Given the description of an element on the screen output the (x, y) to click on. 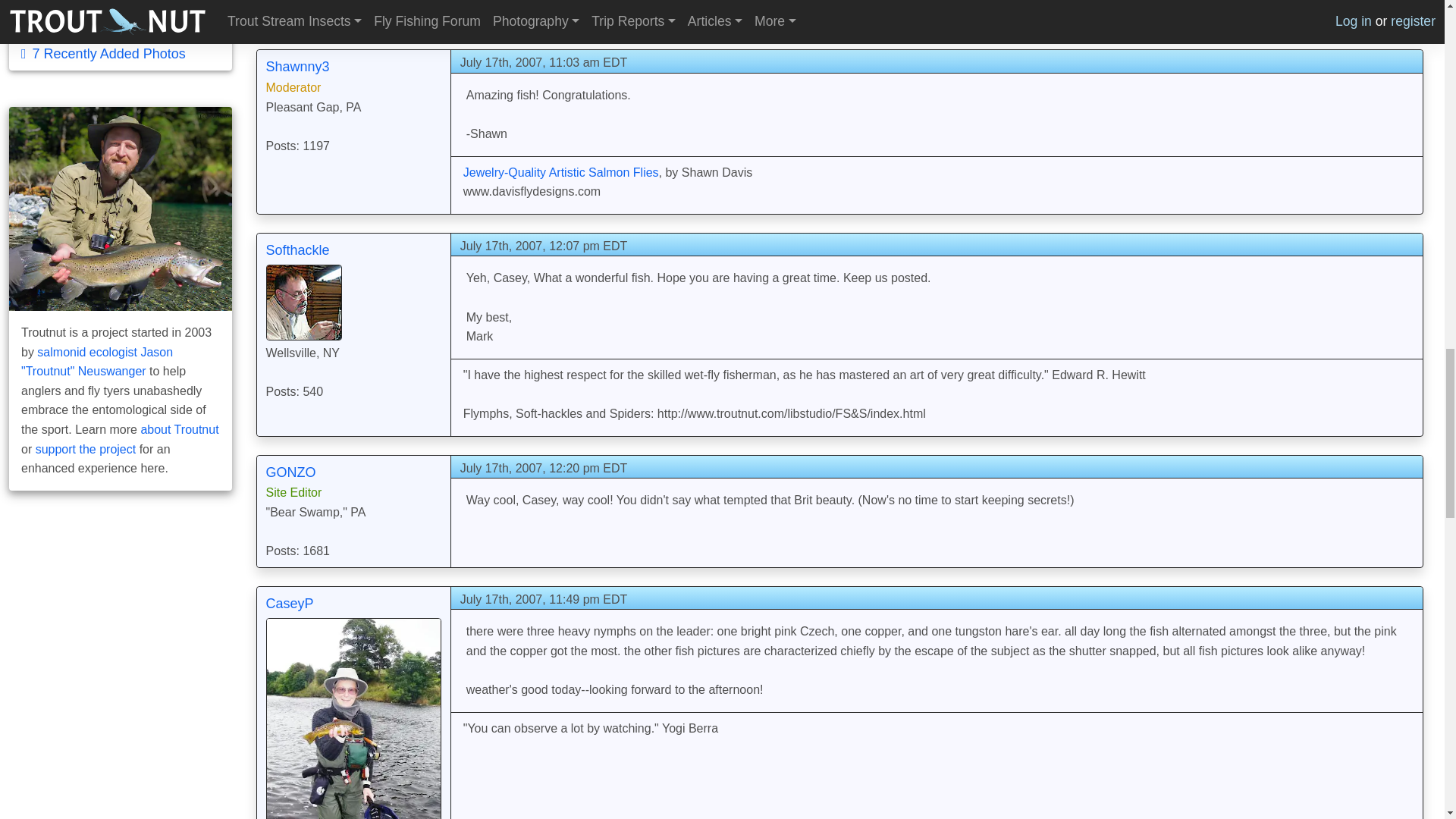
View Shawnny3's Profile or Send Private Message (296, 66)
